Given the description of an element on the screen output the (x, y) to click on. 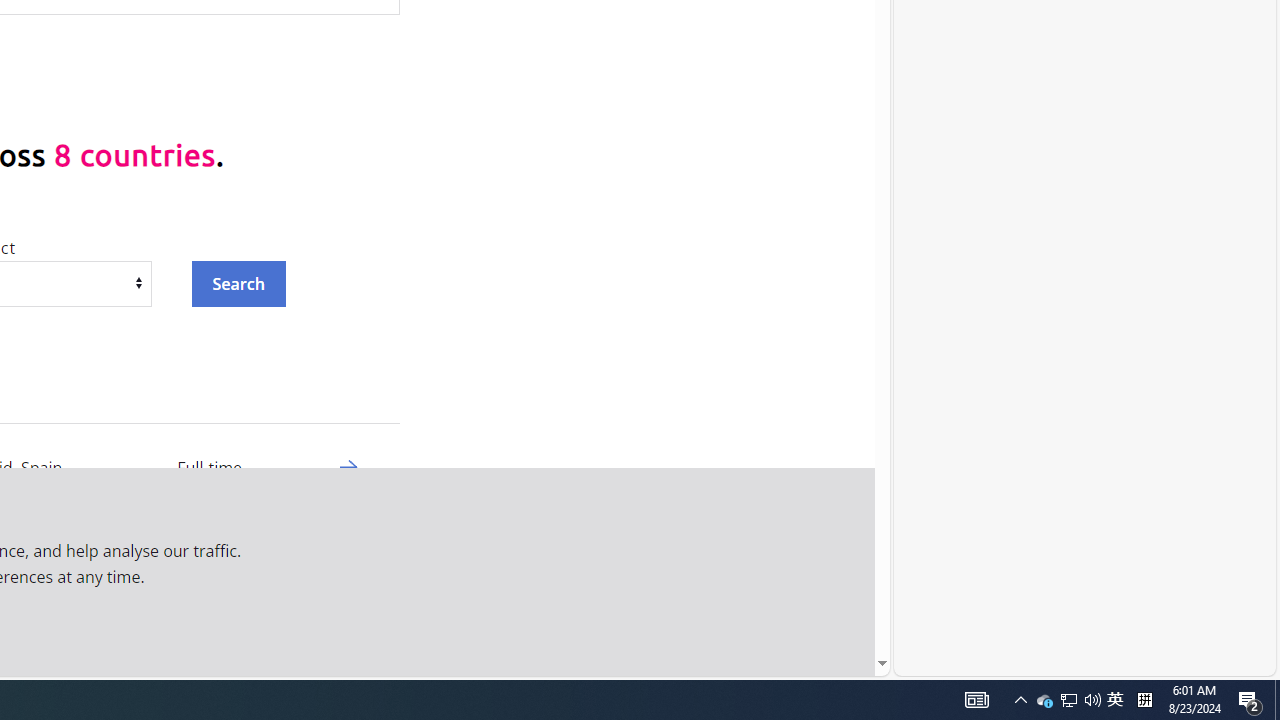
Read full details about role: Full Stack Engineer (347, 645)
